Given the description of an element on the screen output the (x, y) to click on. 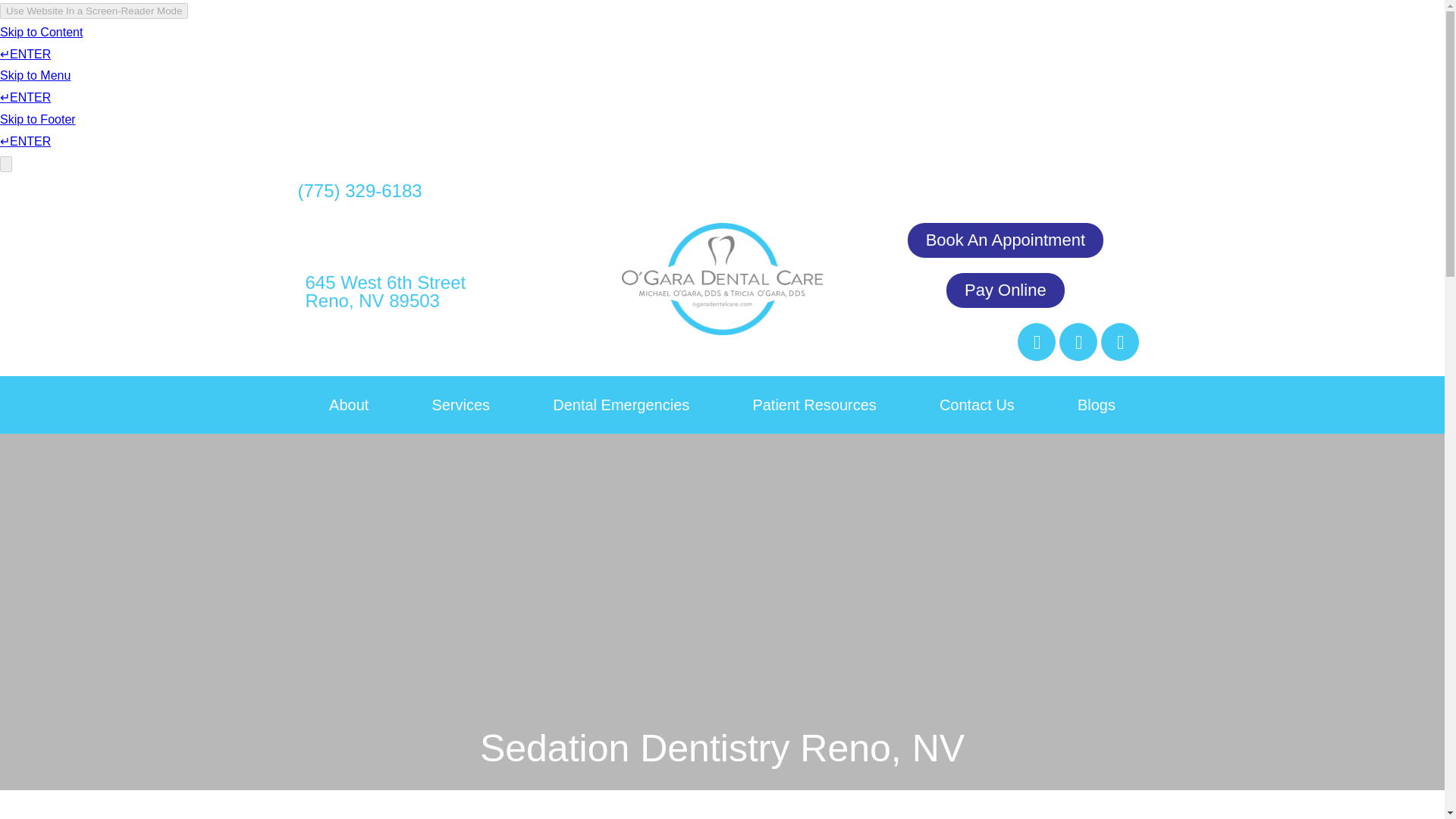
Book An Appointment (1005, 239)
Pay Online (1005, 289)
About (347, 404)
Patient Resources (384, 291)
Services (814, 404)
Dental Emergencies (460, 404)
